Given the description of an element on the screen output the (x, y) to click on. 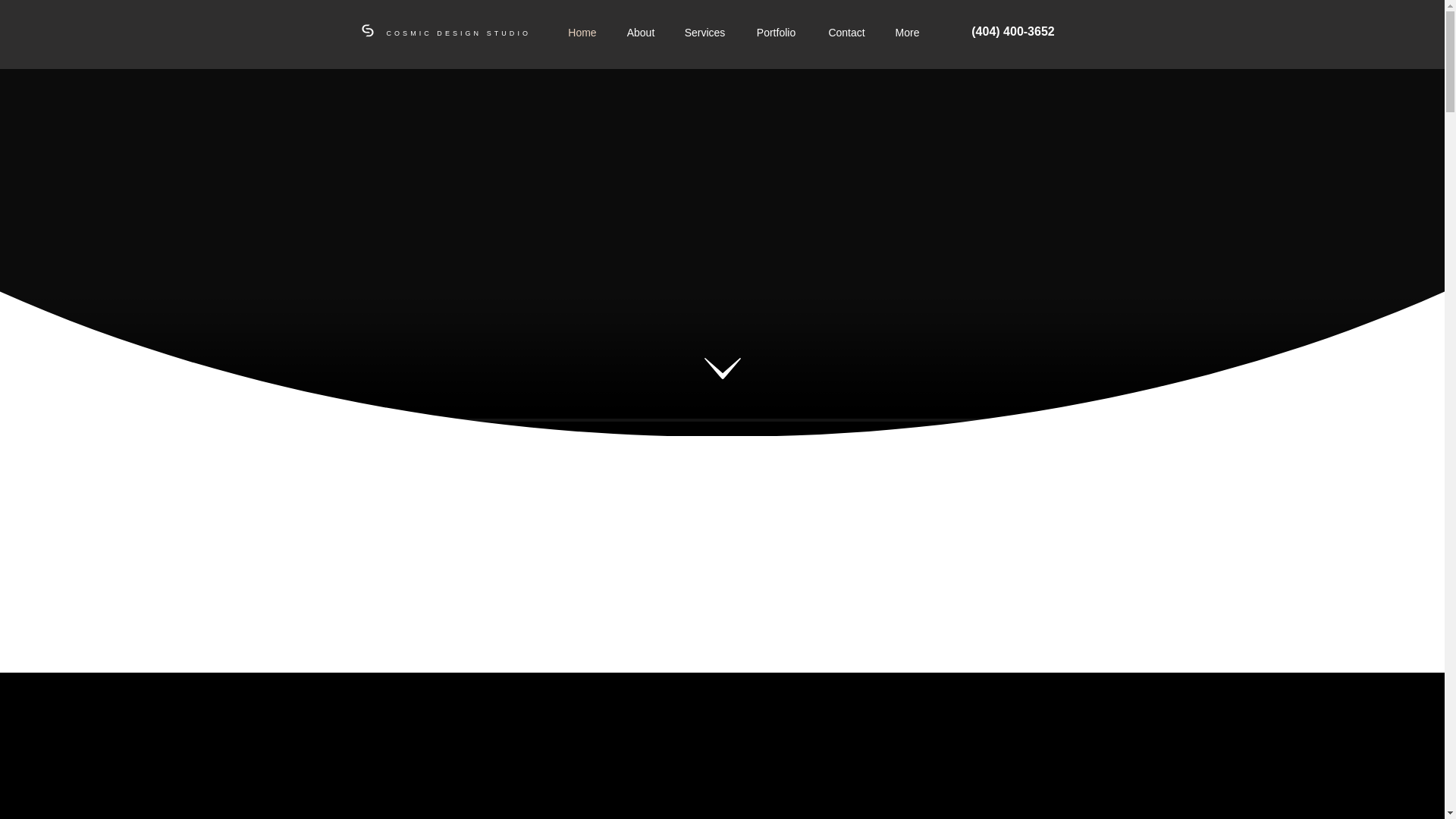
Home (582, 32)
About (640, 32)
Portfolio (775, 32)
Contact (846, 32)
Services (704, 32)
COSMIC DESIGN STUDIO (459, 32)
